Given the description of an element on the screen output the (x, y) to click on. 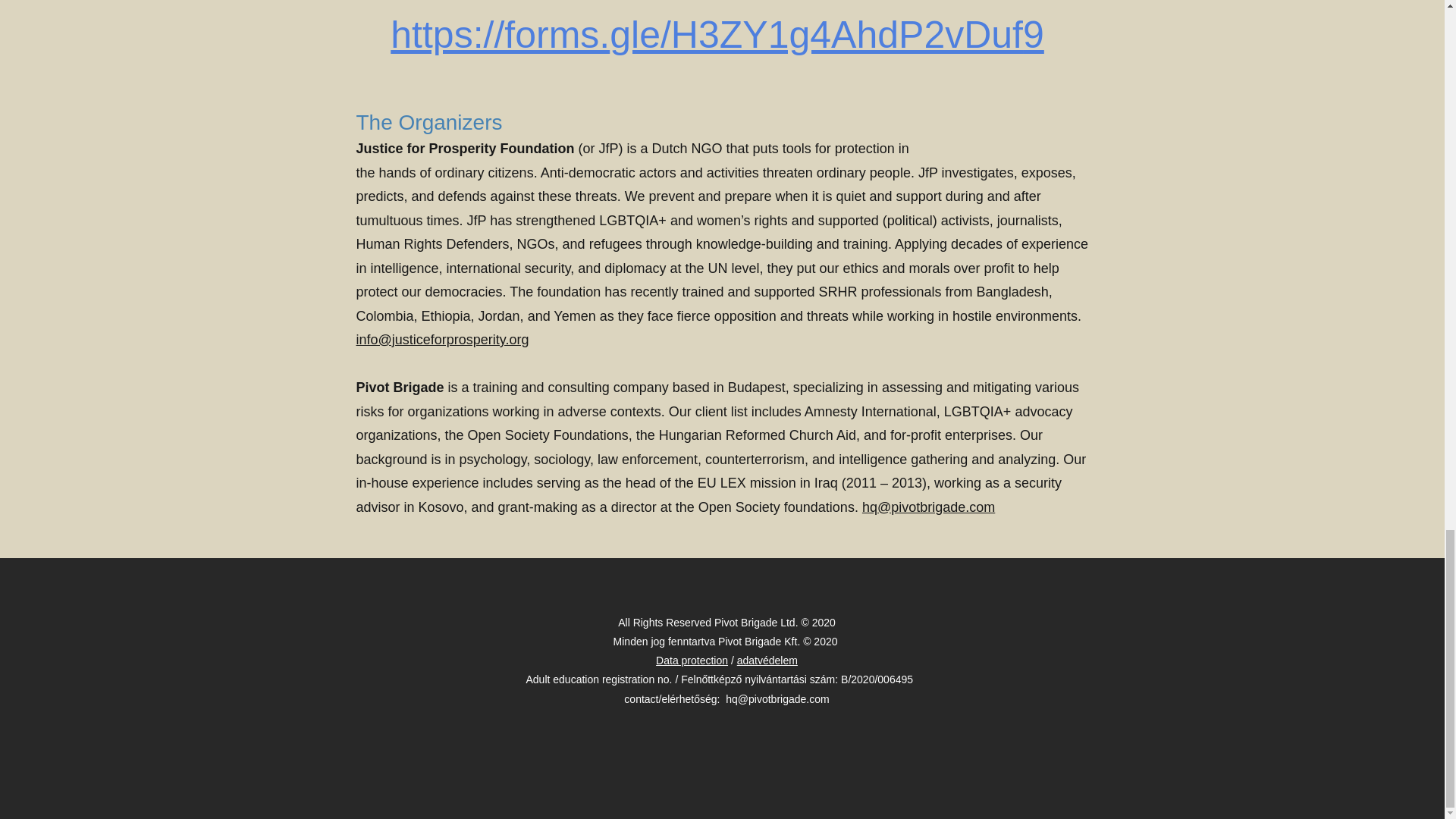
Data protection (692, 660)
